Given the description of an element on the screen output the (x, y) to click on. 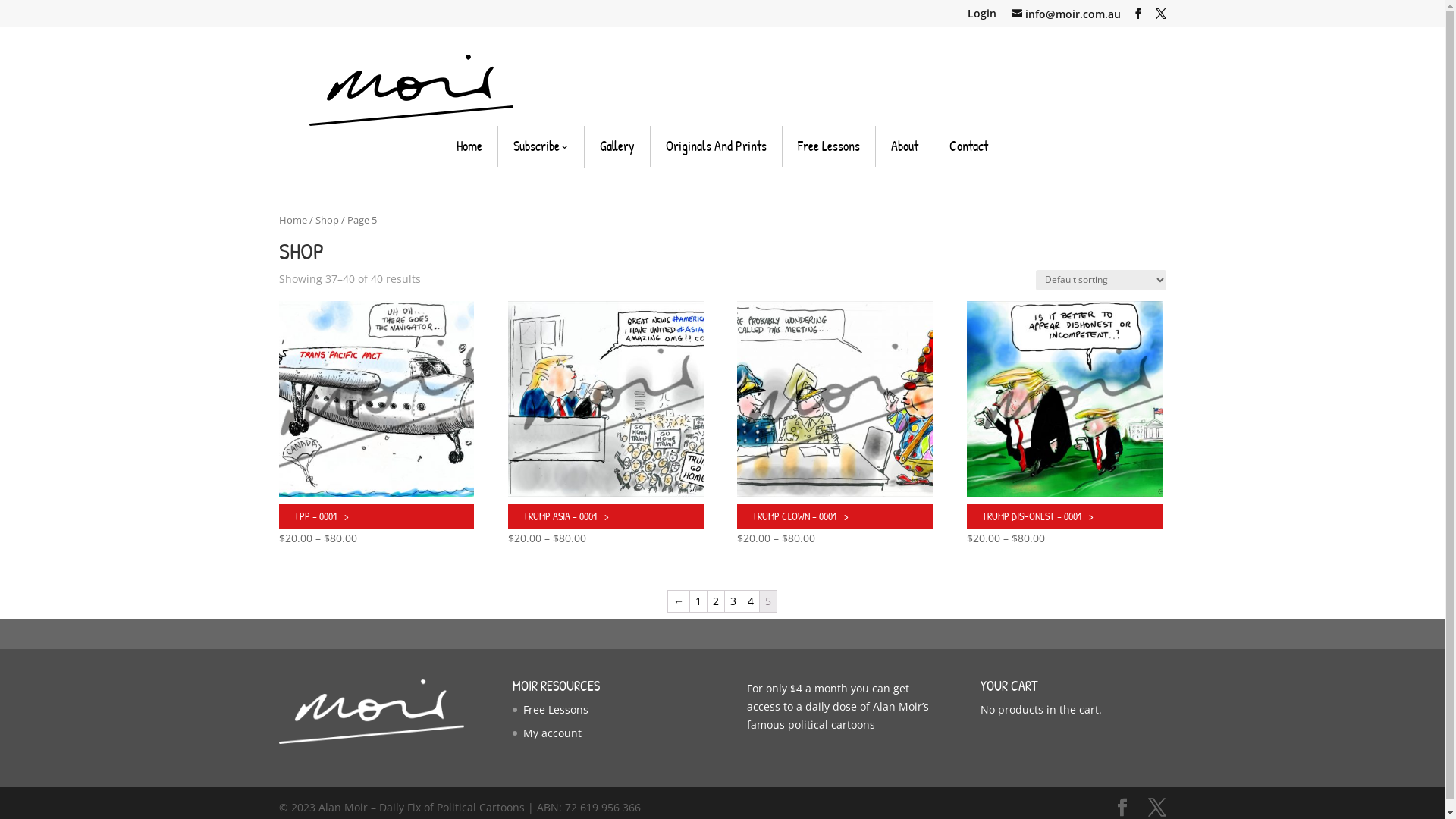
Subscribe Element type: text (540, 146)
3 Element type: text (732, 600)
About Element type: text (904, 145)
Gallery Element type: text (616, 145)
Contact Element type: text (968, 145)
2 Element type: text (715, 600)
Home Element type: text (293, 219)
4 Element type: text (750, 600)
Shop Element type: text (326, 219)
Login Element type: text (981, 13)
Originals And Prints Element type: text (715, 145)
Free Lessons Element type: text (828, 145)
My account Element type: text (552, 732)
info@moir.com.au Element type: text (1065, 13)
1 Element type: text (698, 600)
Free Lessons Element type: text (555, 709)
Home Element type: text (469, 145)
